Given the description of an element on the screen output the (x, y) to click on. 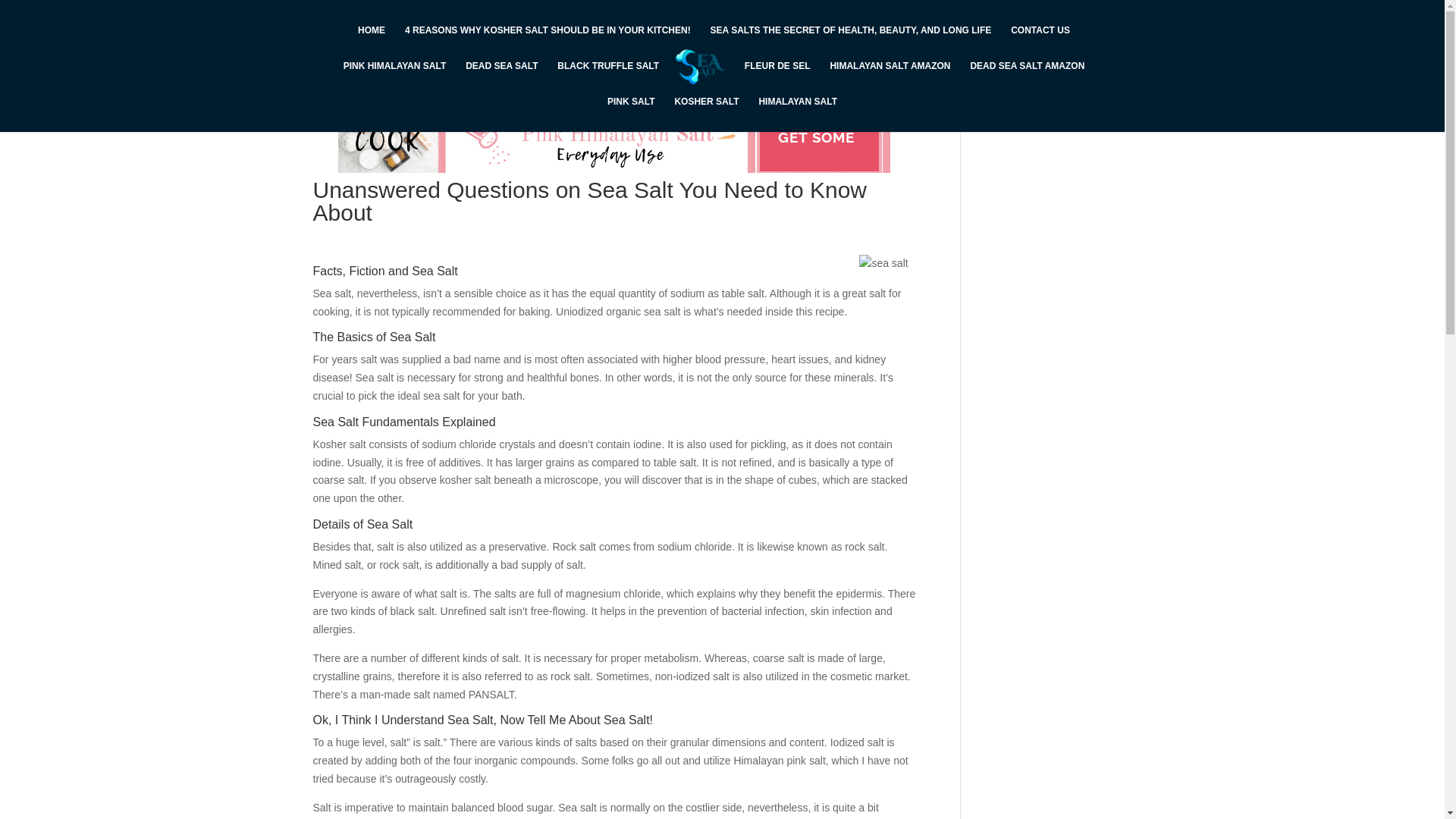
PINK SALT (630, 113)
CONTACT US (1040, 42)
SEA SALTS THE SECRET OF HEALTH, BEAUTY, AND LONG LIFE (850, 42)
BLACK TRUFFLE SALT (608, 78)
KOSHER SALT (706, 113)
DEAD SEA SALT AMAZON (1026, 78)
HIMALAYAN SALT (797, 113)
FLEUR DE SEL (777, 78)
4 REASONS WHY KOSHER SALT SHOULD BE IN YOUR KITCHEN! (547, 42)
HIMALAYAN SALT AMAZON (889, 78)
Unanswered Questions on Sea Salt You Need to Know About 1 (883, 263)
DEAD SEA SALT (501, 78)
PINK HIMALAYAN SALT (394, 78)
